Given the description of an element on the screen output the (x, y) to click on. 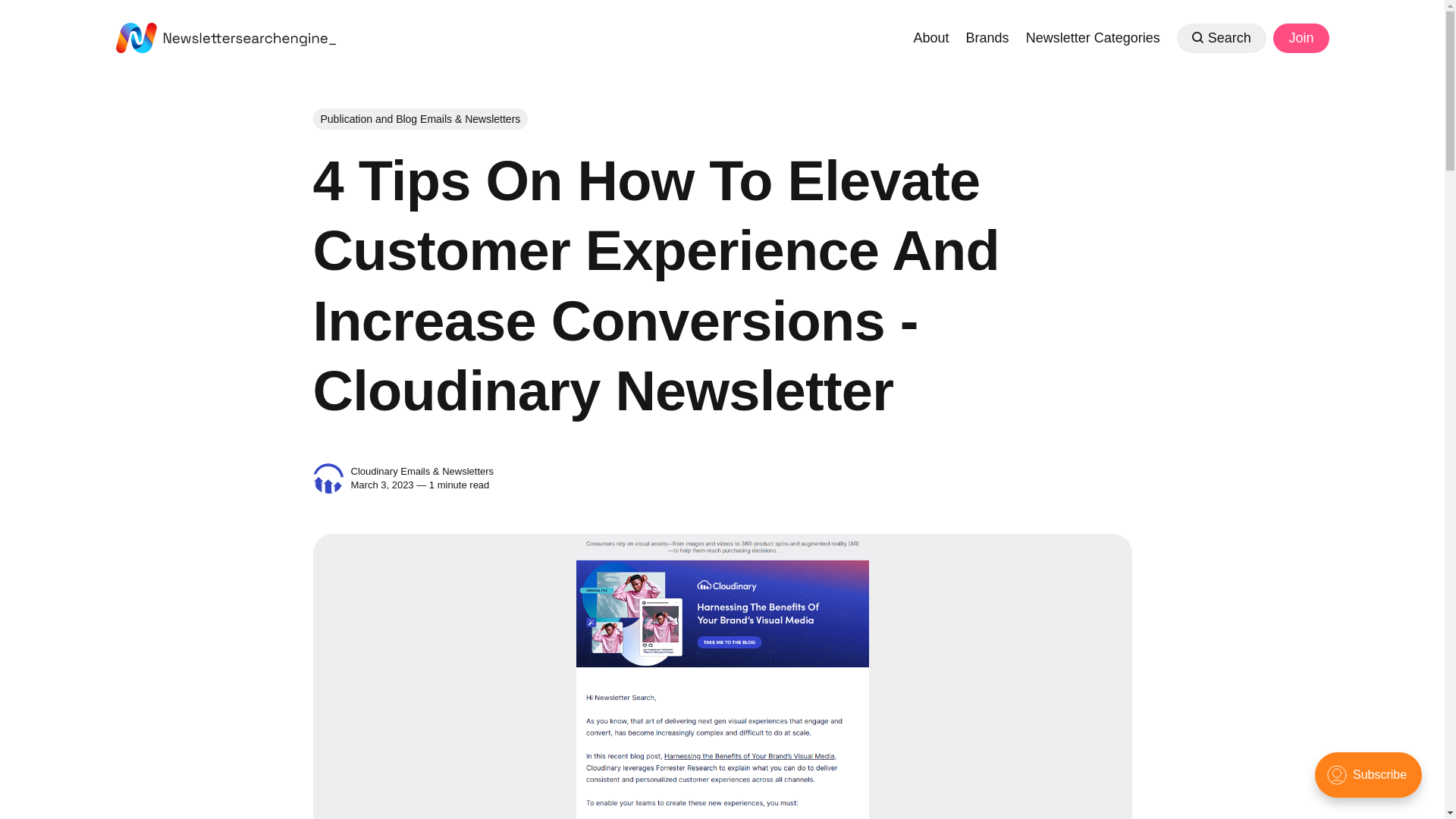
Join (1299, 37)
Brands (987, 37)
Newsletter Categories (1093, 37)
About (930, 37)
